Given the description of an element on the screen output the (x, y) to click on. 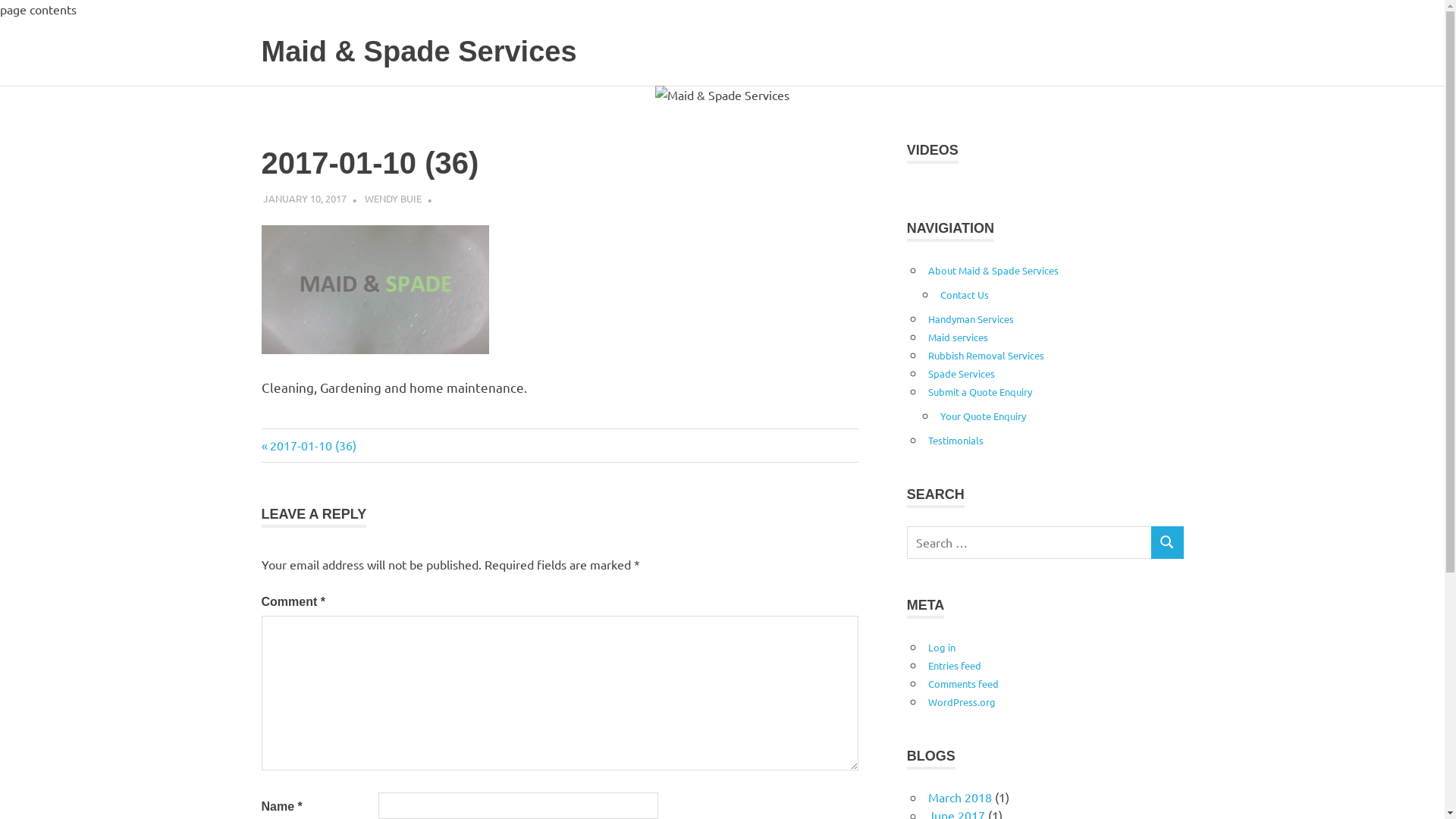
WordPress.org Element type: text (961, 701)
Previous Post:
2017-01-10 (36) Element type: text (307, 444)
March 2018 Element type: text (959, 796)
Spade Services Element type: text (961, 373)
JANUARY 10, 2017 Element type: text (304, 197)
About Maid & Spade Services Element type: text (993, 269)
Maid & Spade Services Element type: text (418, 51)
Rubbish Removal Services Element type: text (986, 354)
Maid services Element type: text (958, 336)
Contact Us Element type: text (964, 294)
Entries feed Element type: text (954, 664)
Testimonials Element type: text (955, 439)
Search for: Element type: hover (1028, 542)
Submit a Quote Enquiry Element type: text (980, 391)
WENDY BUIE Element type: text (392, 197)
Your Quote Enquiry Element type: text (983, 415)
SEARCH Element type: text (1167, 542)
Comments feed Element type: text (963, 683)
Handyman Services Element type: text (970, 318)
Log in Element type: text (941, 646)
